Given the description of an element on the screen output the (x, y) to click on. 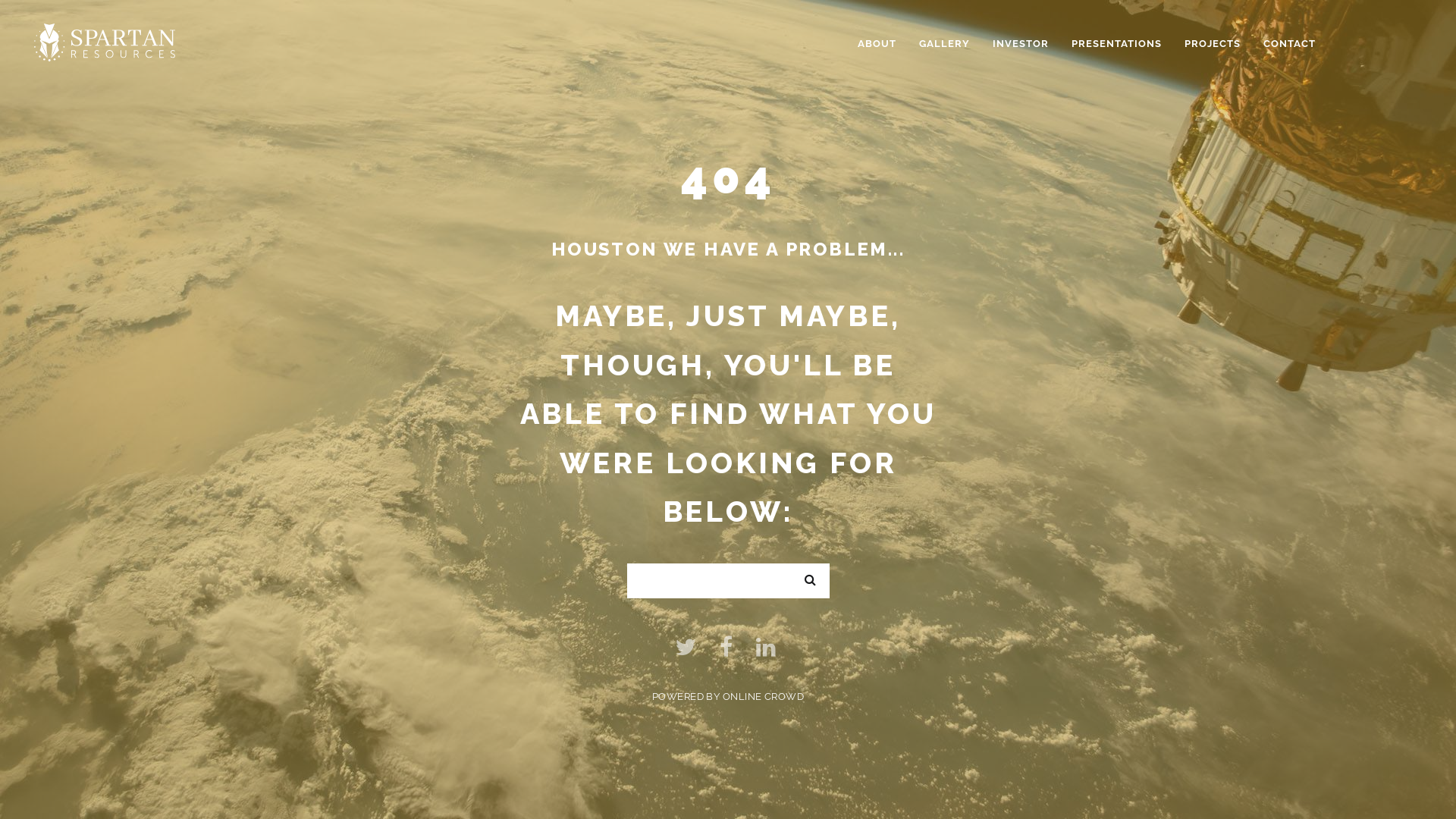
PRESENTATIONS Element type: text (1116, 43)
Search Element type: text (809, 561)
ABOUT Element type: text (876, 43)
Spartan Resources Element type: hover (104, 40)
INVESTOR Element type: text (1020, 43)
GALLERY Element type: text (944, 43)
CONTACT Element type: text (1289, 43)
PROJECTS Element type: text (1212, 43)
ONLINE CROWD Element type: text (762, 696)
